Given the description of an element on the screen output the (x, y) to click on. 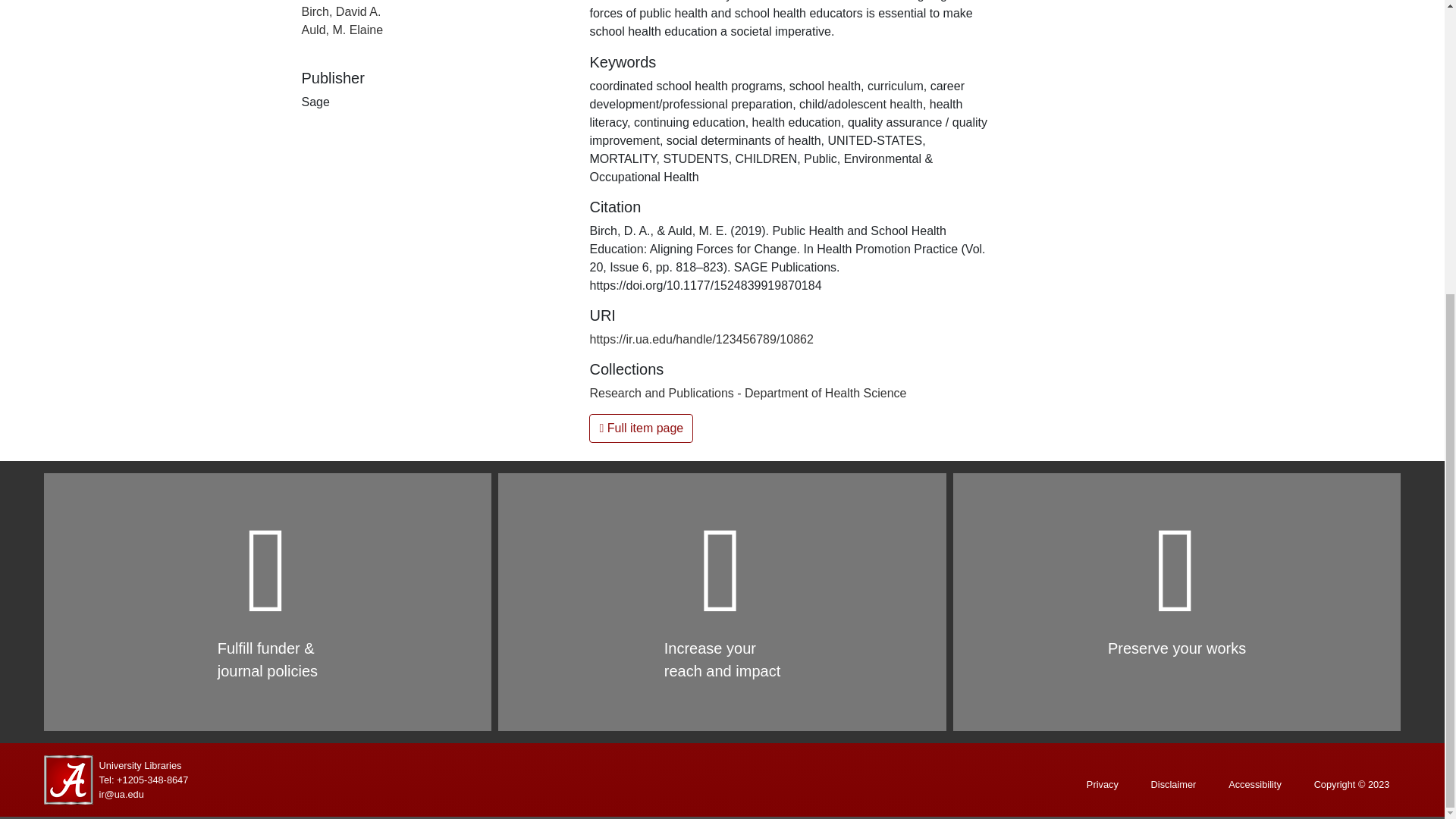
Research and Publications - Department of Health Science (747, 392)
Copyright (1351, 784)
Accessibility (1254, 784)
Full item page (641, 428)
Birch, David A. (341, 11)
Disclaimer (1174, 784)
Accessibility (1254, 784)
Privacy (1102, 784)
Disclaimer (1174, 784)
University Libraries (140, 765)
